Given the description of an element on the screen output the (x, y) to click on. 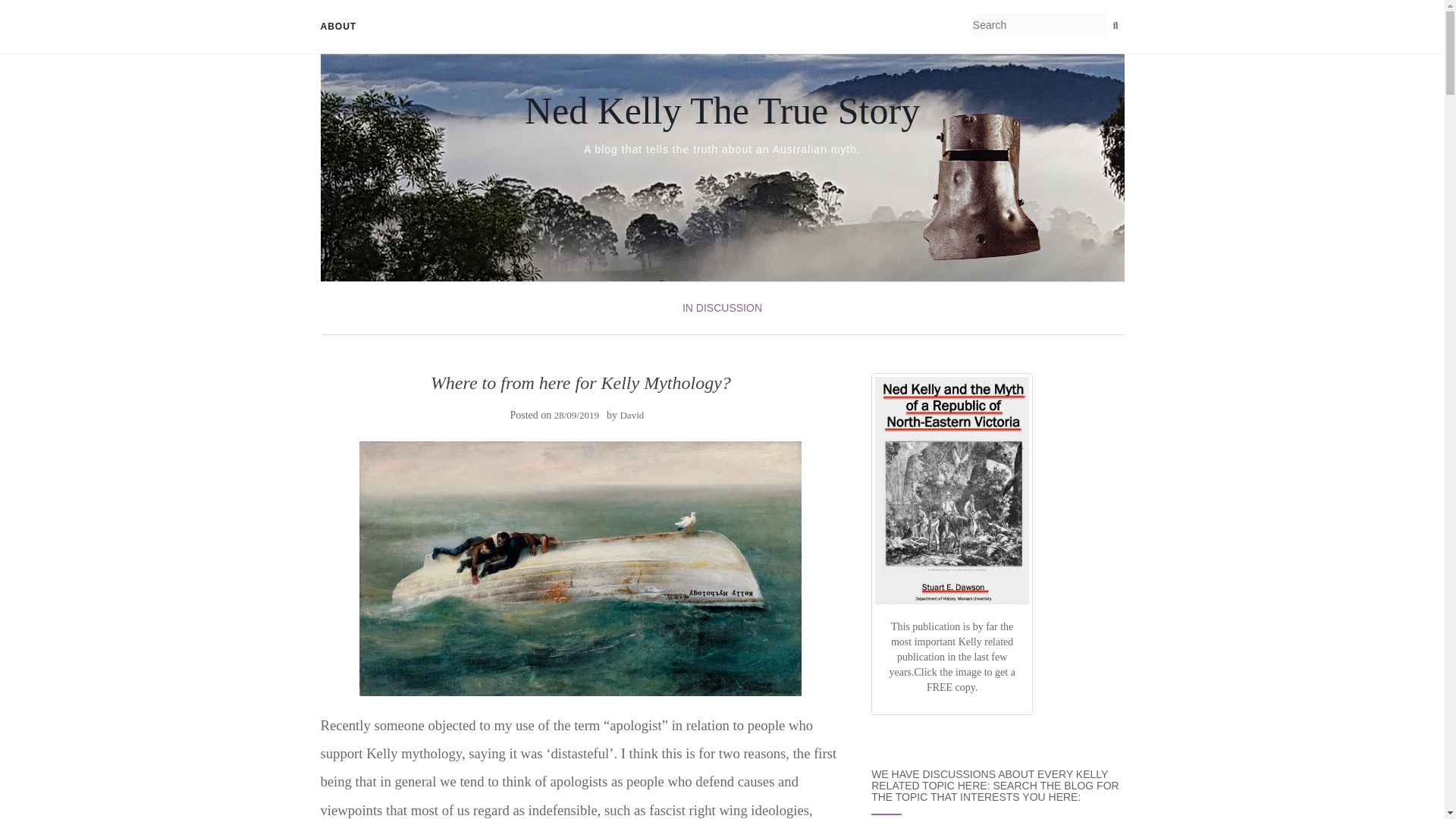
Where to from here for Kelly Mythology? (580, 568)
IN DISCUSSION (721, 307)
Ned Kelly The True Story (722, 110)
David (631, 414)
Ned Kelly The True Story (722, 110)
